Given the description of an element on the screen output the (x, y) to click on. 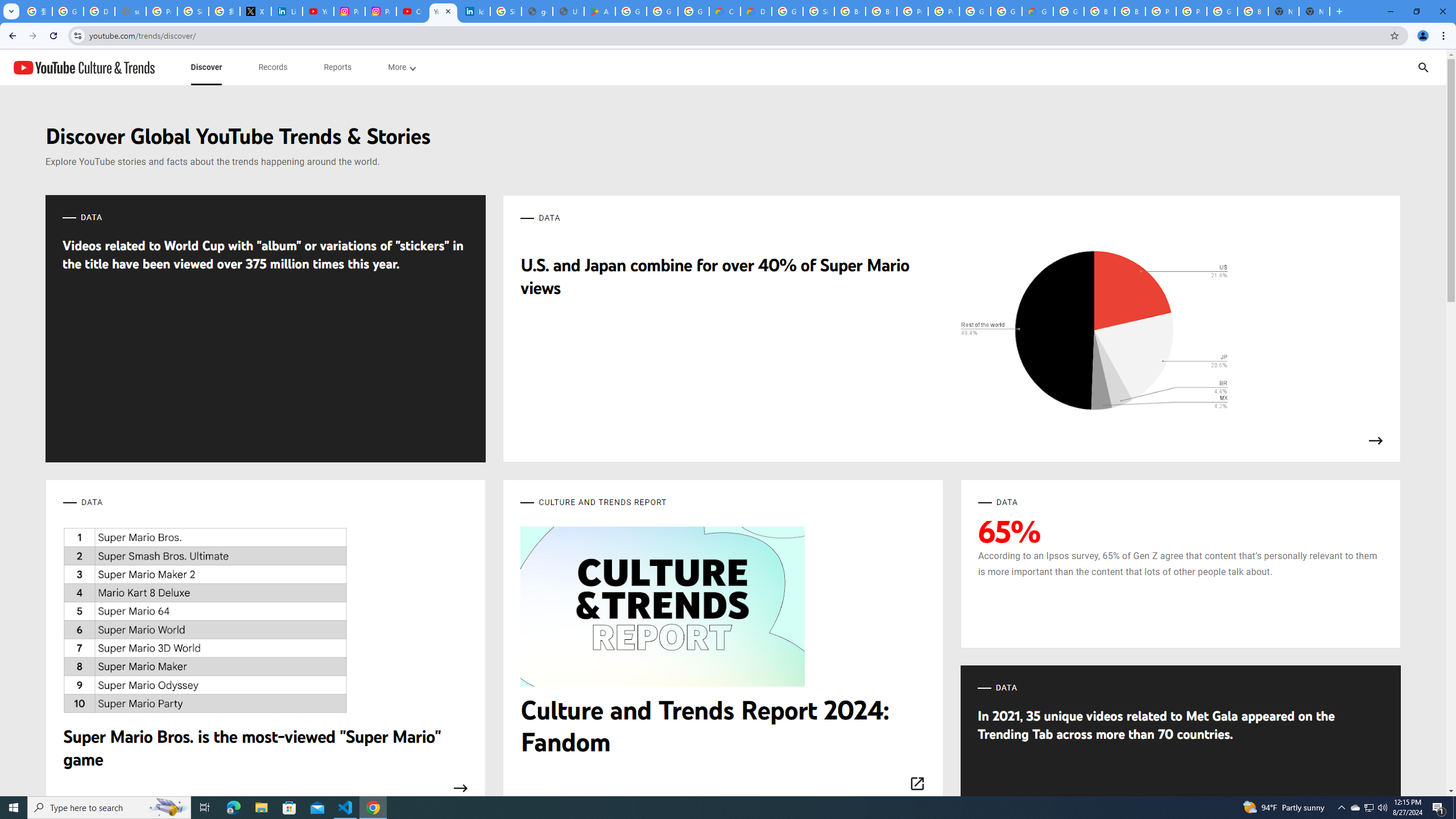
Sign in - Google Accounts (818, 11)
Browse Chrome as a guest - Computer - Google Chrome Help (849, 11)
Customer Care | Google Cloud (724, 11)
